Given the description of an element on the screen output the (x, y) to click on. 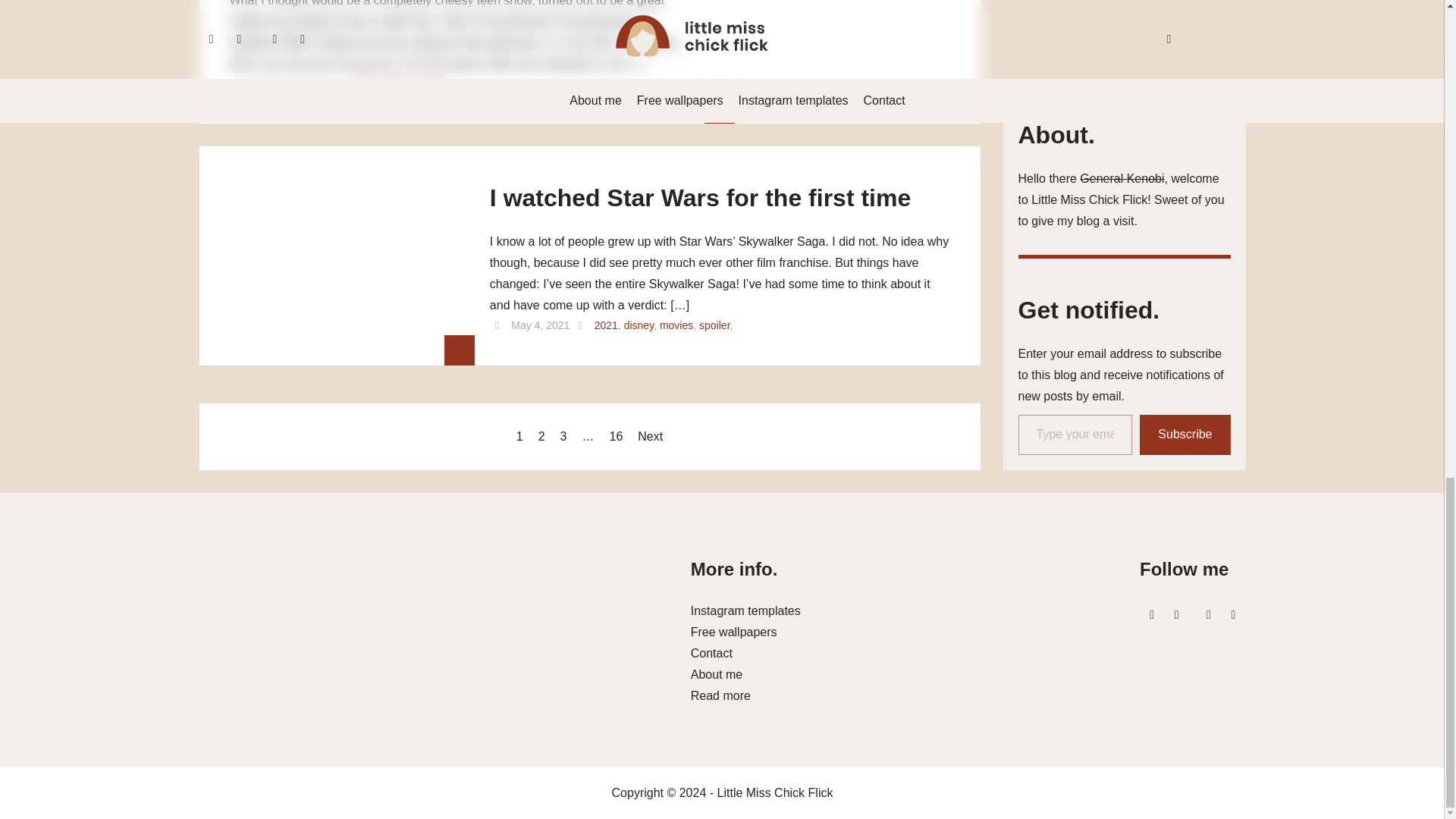
2021 (363, 82)
netflix (395, 82)
review (429, 82)
2021 (605, 325)
disney (638, 325)
I watched Star Wars for the first time (700, 203)
